Given the description of an element on the screen output the (x, y) to click on. 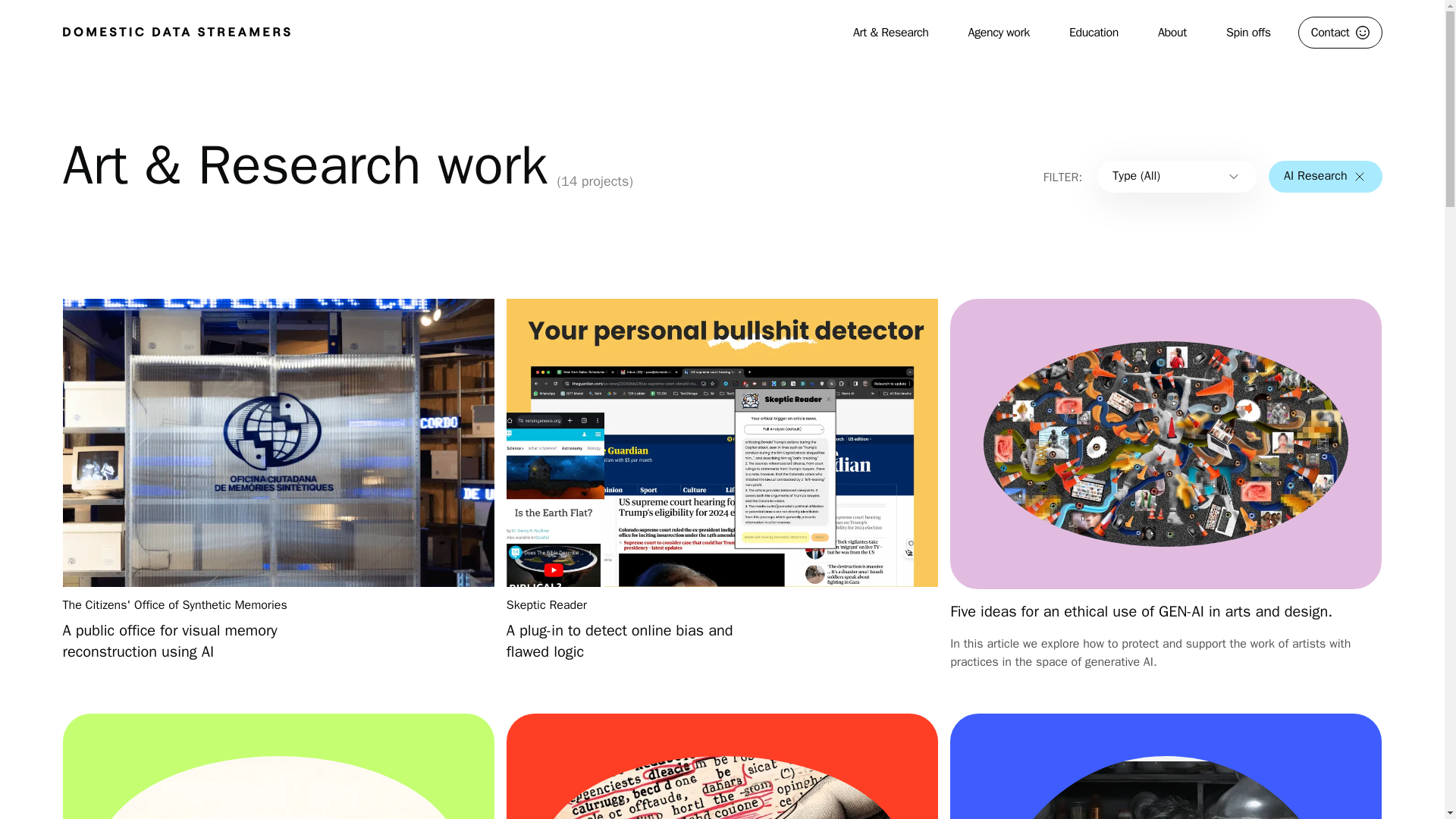
Agency work (999, 32)
The Citizens' Office of Synthetic Memories (174, 604)
Education (1094, 32)
Skeptic Reader (546, 604)
Spin offs (1248, 32)
Contact (1339, 32)
Five ideas for an ethical use of GEN-AI in arts and design. (1141, 610)
Skip to content. (71, 31)
About (1171, 32)
AI Research (1324, 176)
